Given the description of an element on the screen output the (x, y) to click on. 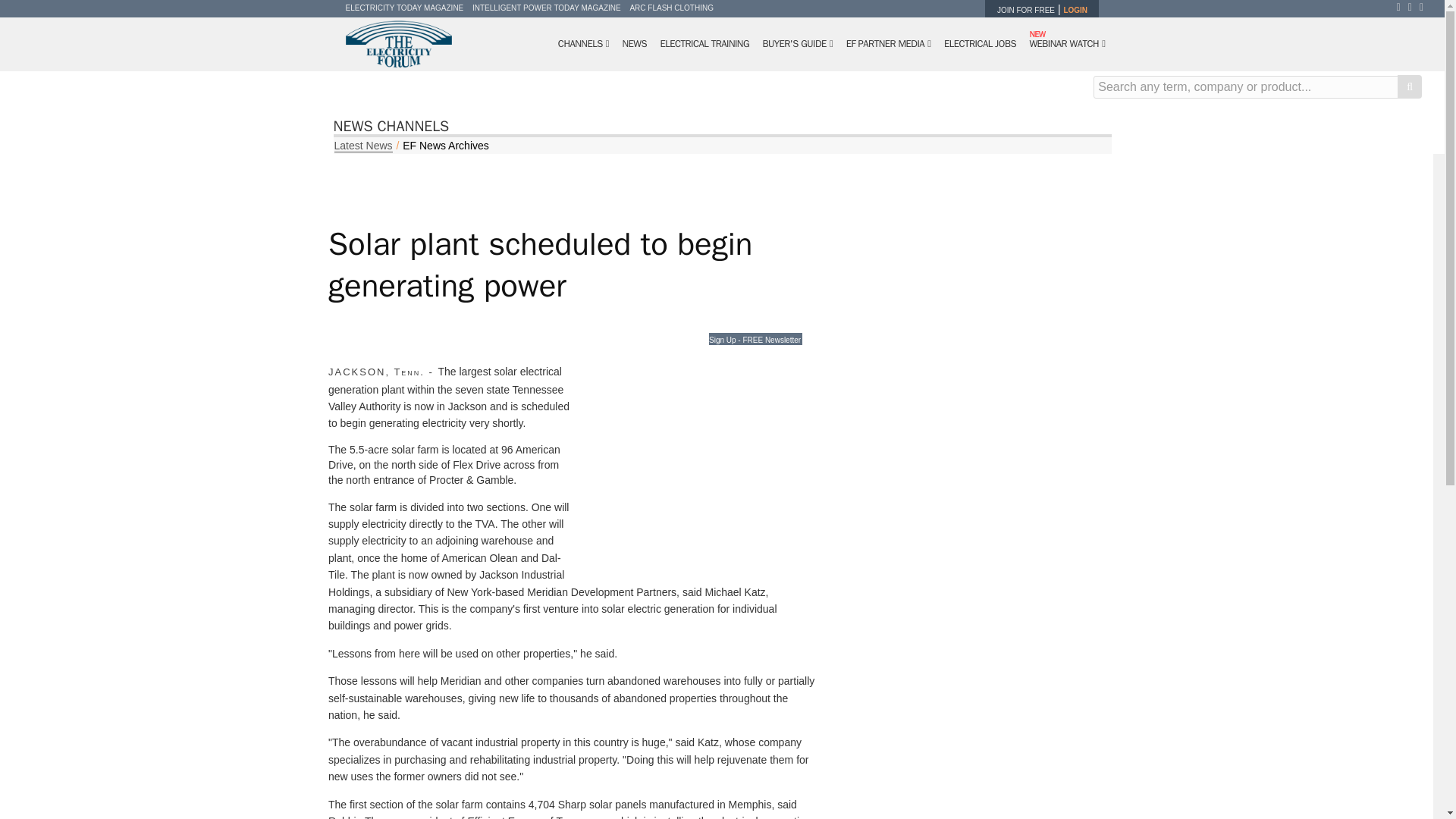
JOIN FOR FREE (1025, 9)
Latest News (362, 145)
ELECTRICAL JOBS (980, 44)
ELECTRICAL TRAINING (703, 44)
ARC FLASH CLOTHING (670, 8)
NEWS (634, 44)
Sign Up - FREE Newsletter (755, 338)
Facebook (1401, 6)
EF News Archives (446, 145)
Twitter (1413, 6)
INTELLIGENT POWER TODAY MAGAZINE (546, 8)
WEBINAR WATCH (1066, 44)
ELECTRICITY TODAY MAGAZINE (405, 8)
EF PARTNER MEDIA (888, 44)
CHANNELS (583, 44)
